Given the description of an element on the screen output the (x, y) to click on. 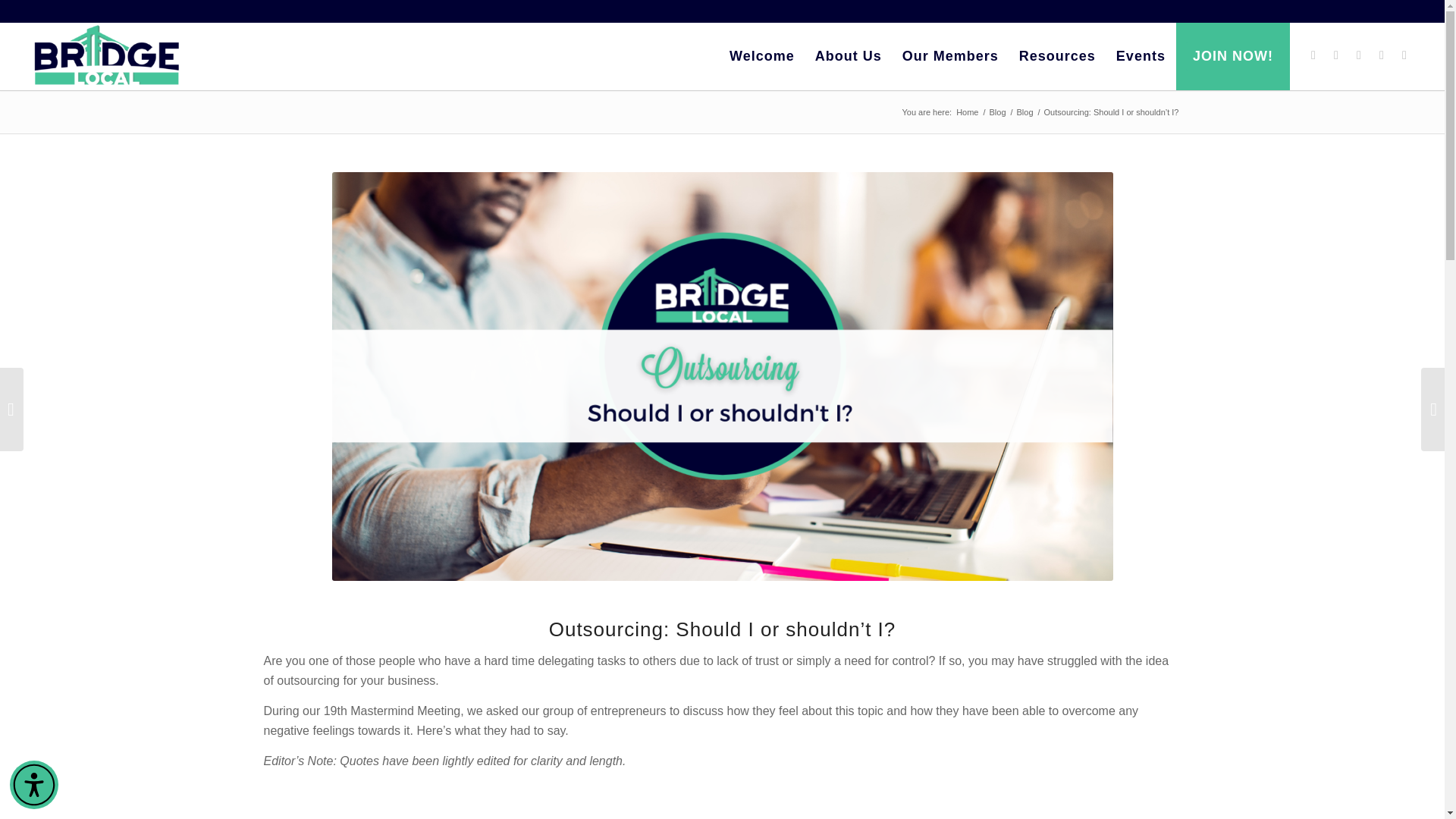
About Us (848, 56)
Blog (1024, 112)
Events (1139, 56)
Welcome (762, 56)
Mail (1381, 55)
Accessibility Menu (34, 784)
Home (966, 112)
Blog (997, 112)
Instagram (1336, 55)
JOIN NOW! (1232, 56)
Facebook (1312, 55)
BRIDGE Local (966, 112)
Twitter (1404, 55)
Blog (997, 112)
Resources (1057, 56)
